Given the description of an element on the screen output the (x, y) to click on. 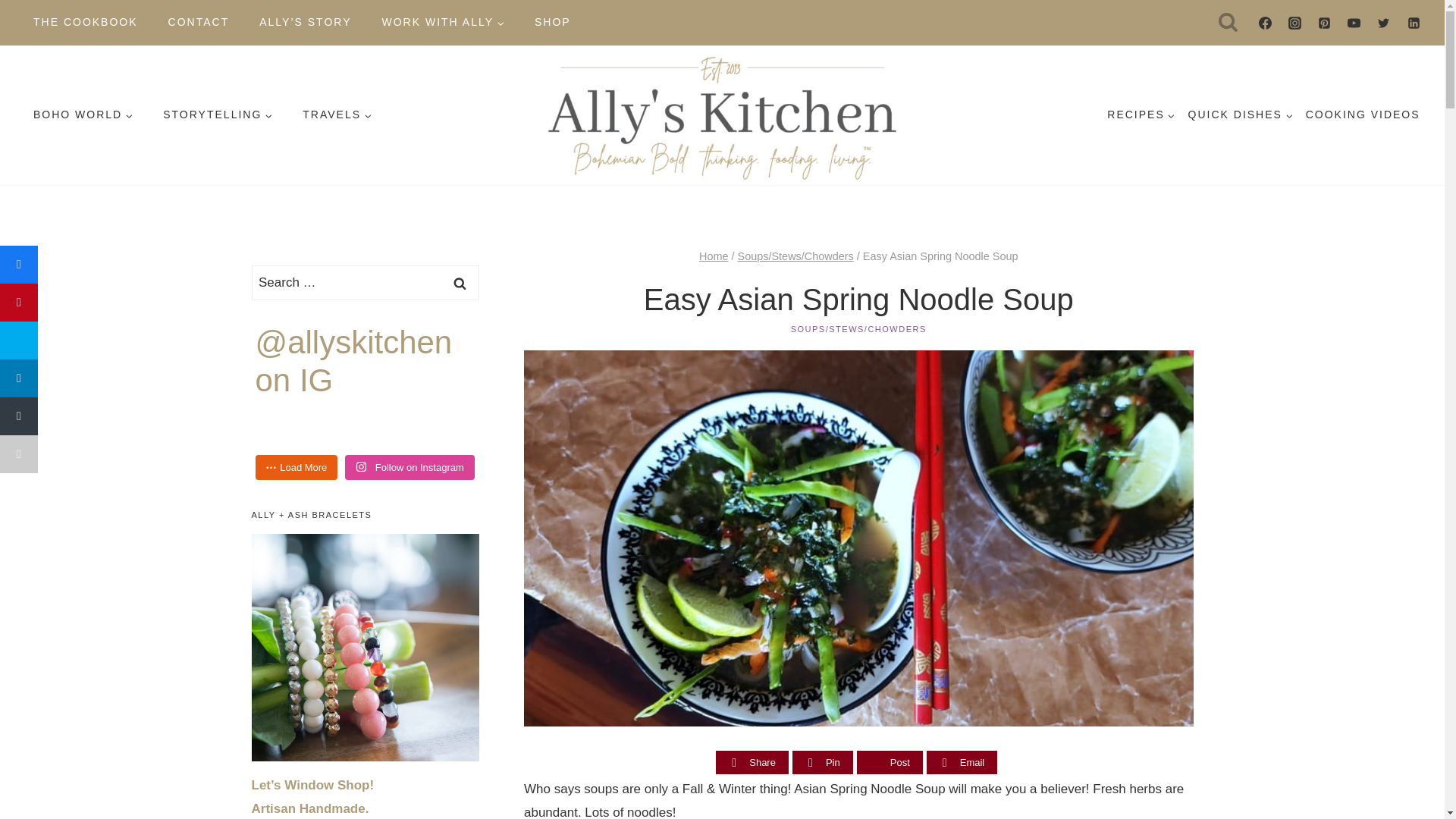
CONTACT (198, 22)
TRAVELS (336, 115)
Search (460, 282)
WORK WITH ALLY (442, 22)
STORYTELLING (217, 115)
RECIPES (1140, 115)
THE COOKBOOK (84, 22)
SHOP (552, 22)
BOHO WORLD (82, 115)
Search (460, 282)
